Given the description of an element on the screen output the (x, y) to click on. 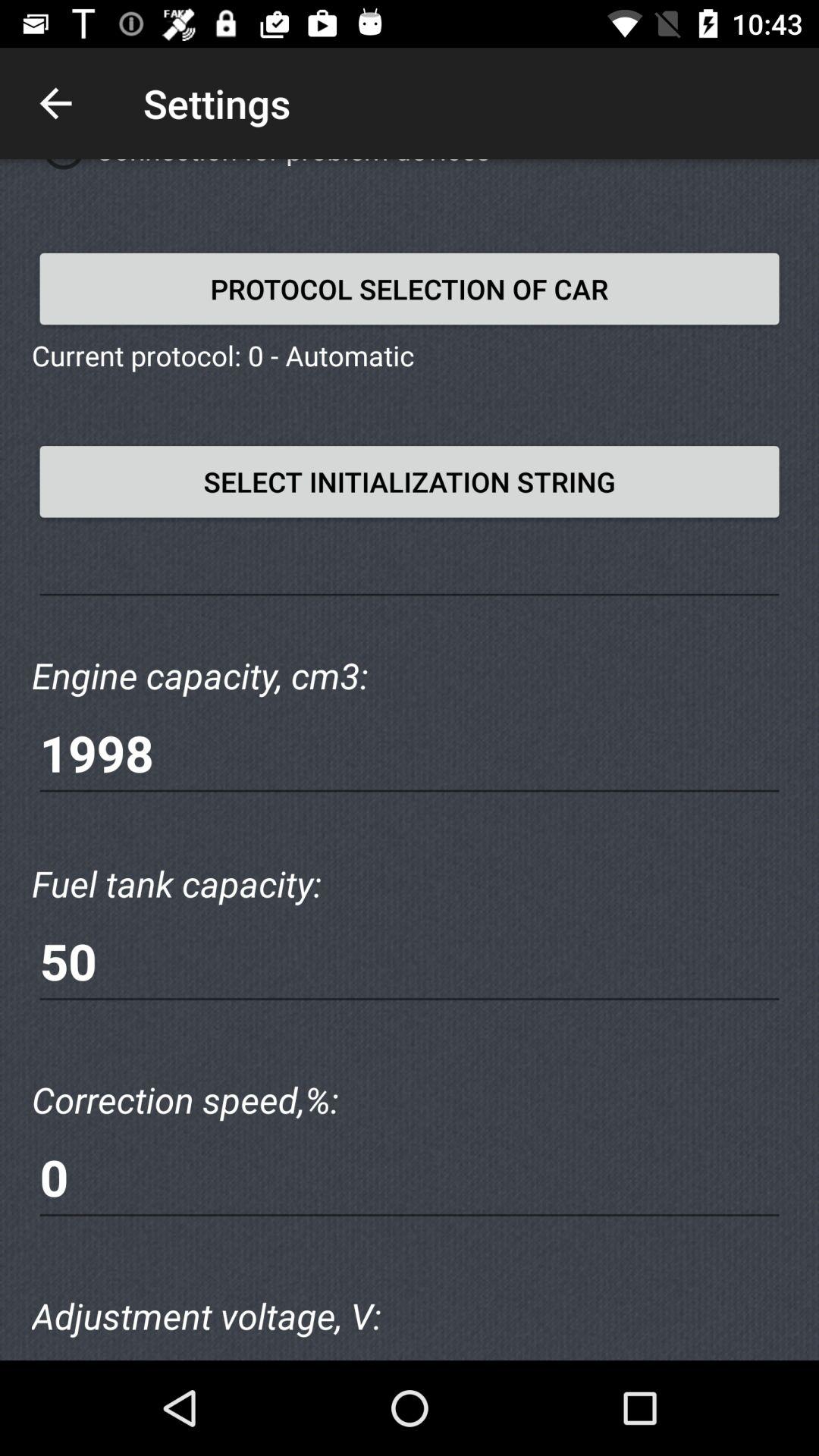
select the text below current protocol (409, 481)
select the button below the text settings on the web page (409, 288)
select the text field below the text correction speed  on the web page (409, 1177)
